Given the description of an element on the screen output the (x, y) to click on. 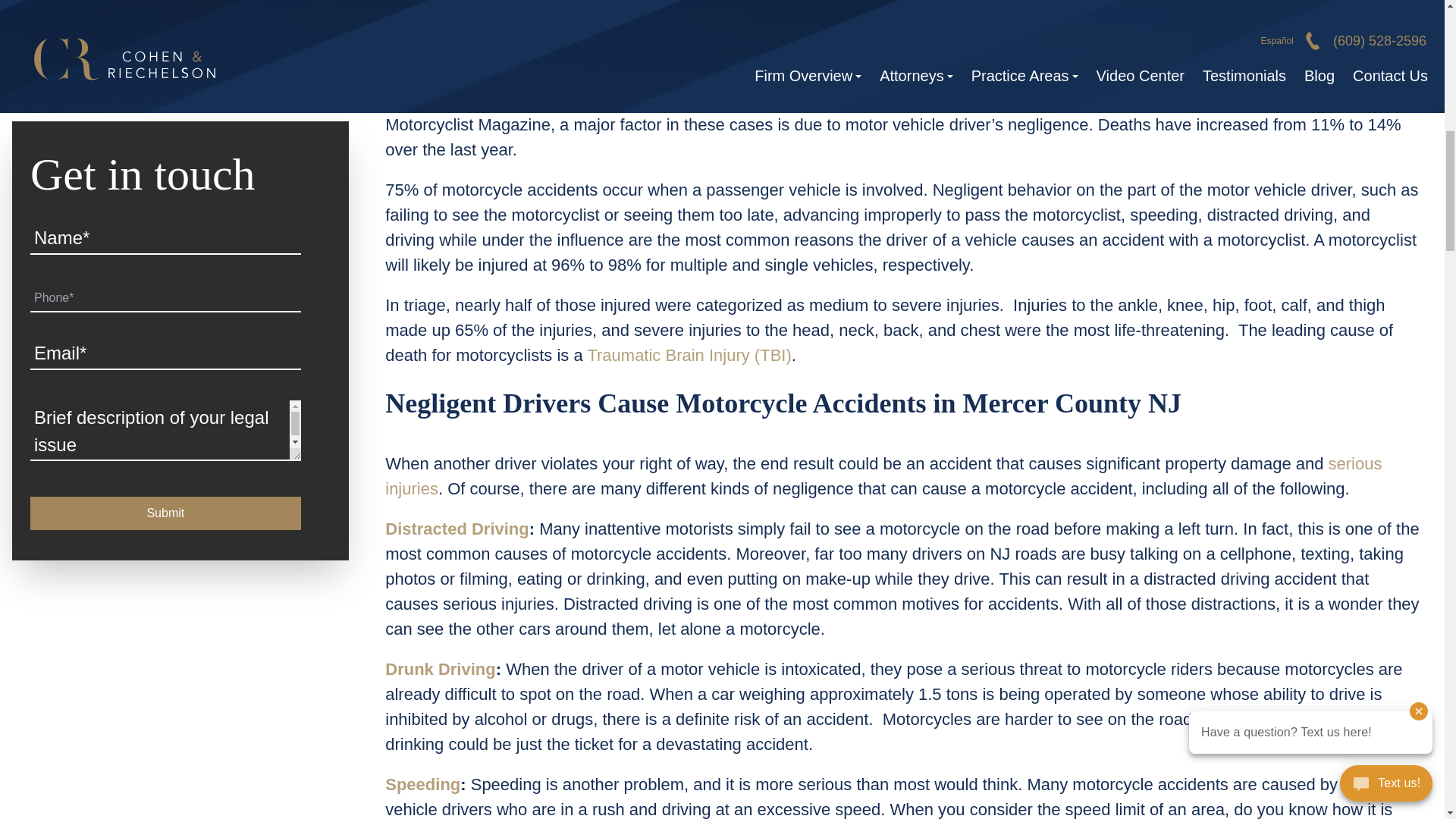
New Jersey DWI (440, 669)
Submit (165, 367)
Distracted Driving in NJ (457, 528)
serious injuries (883, 475)
Drunk Driving (440, 669)
Speeding (422, 783)
Distracted Driving (457, 528)
Speeding in NJ (422, 783)
Motorcycle Accident Injuries (883, 475)
